Given the description of an element on the screen output the (x, y) to click on. 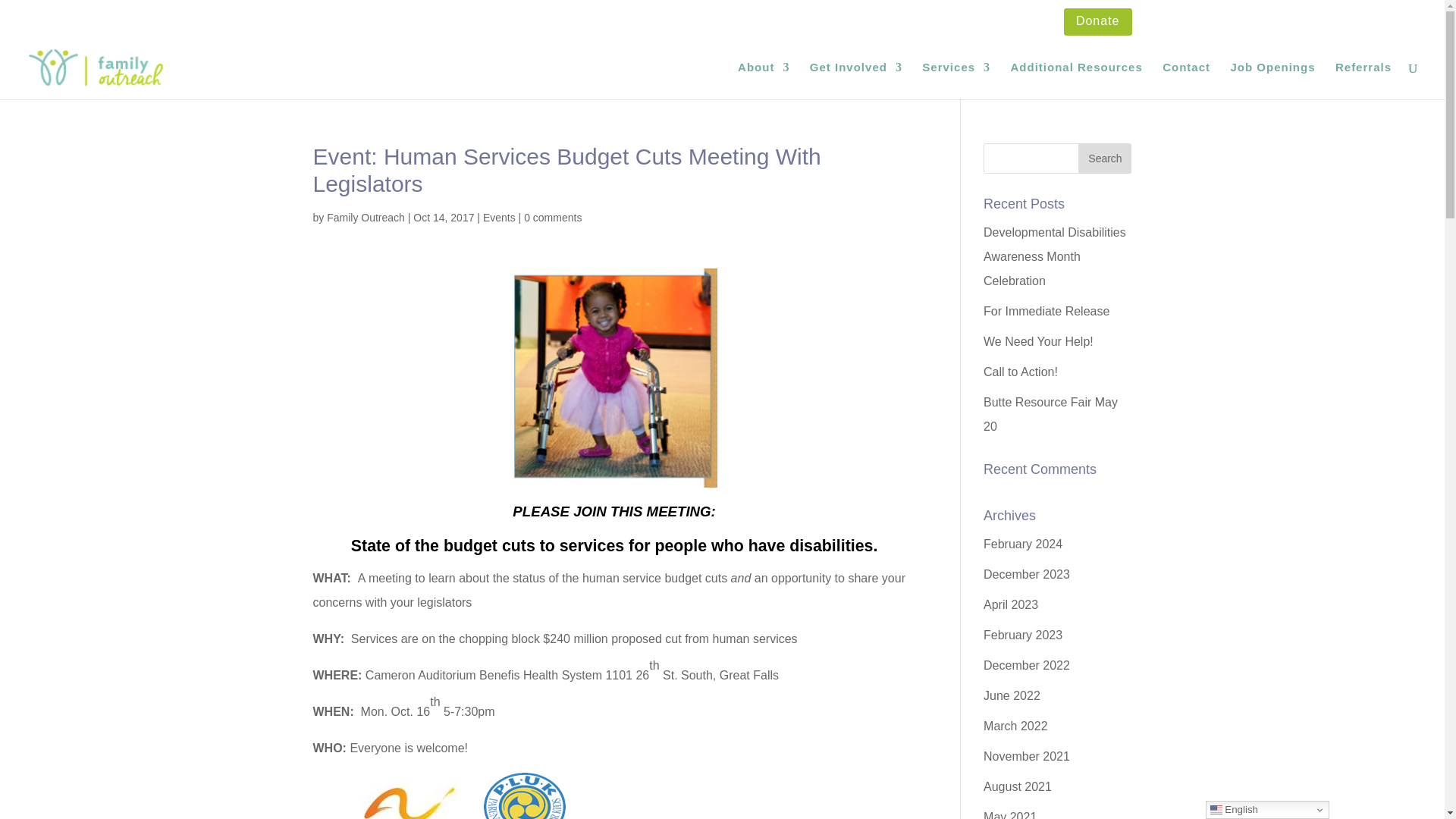
Human Services Budget Cuts Meeting (614, 377)
Posts by Family Outreach (365, 217)
The Arc Montana (392, 795)
Additional Resources (1076, 80)
Services (955, 80)
PLUK (524, 795)
Search (1104, 158)
Referrals (1363, 80)
Job Openings (1272, 80)
About (763, 80)
Donate (1097, 25)
Get Involved (855, 80)
Contact (1185, 80)
